Given the description of an element on the screen output the (x, y) to click on. 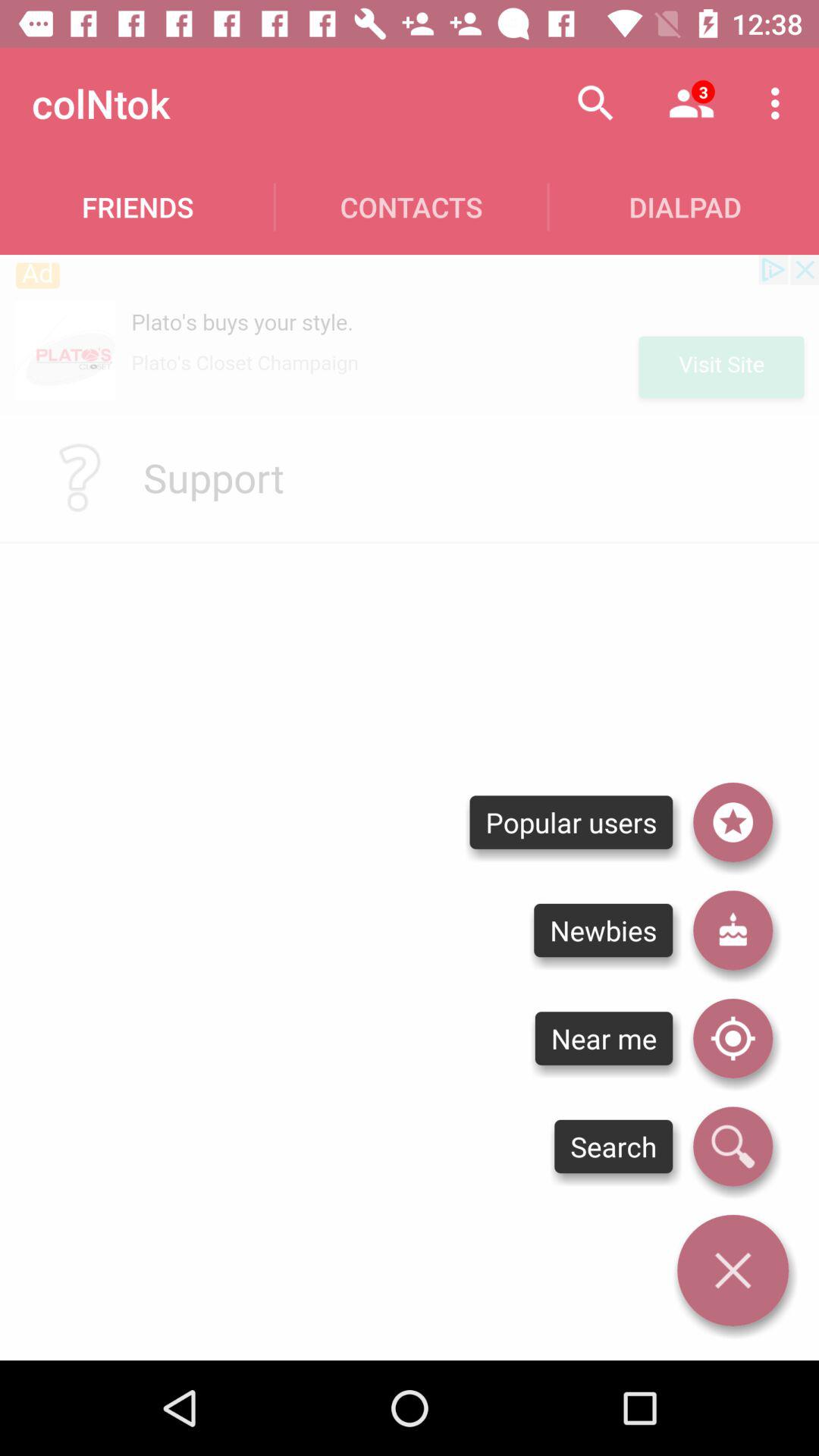
click icon next to support item (79, 477)
